Given the description of an element on the screen output the (x, y) to click on. 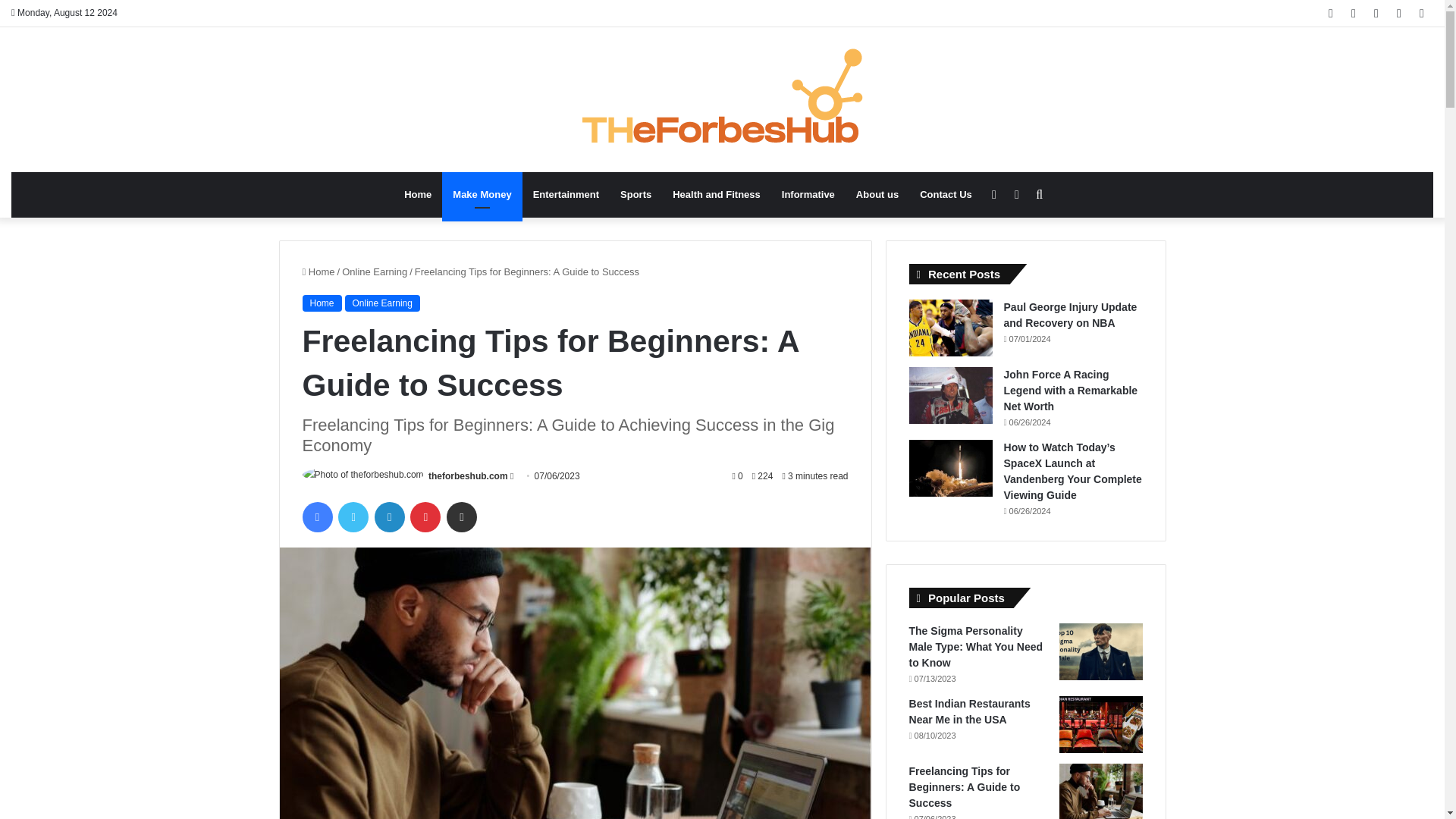
Share via Email (461, 517)
Theforbeshub (721, 99)
Twitter (352, 517)
LinkedIn (389, 517)
Online Earning (382, 303)
Make Money (481, 194)
LinkedIn (389, 517)
theforbeshub.com (468, 475)
Pinterest (425, 517)
Informative (808, 194)
